Given the description of an element on the screen output the (x, y) to click on. 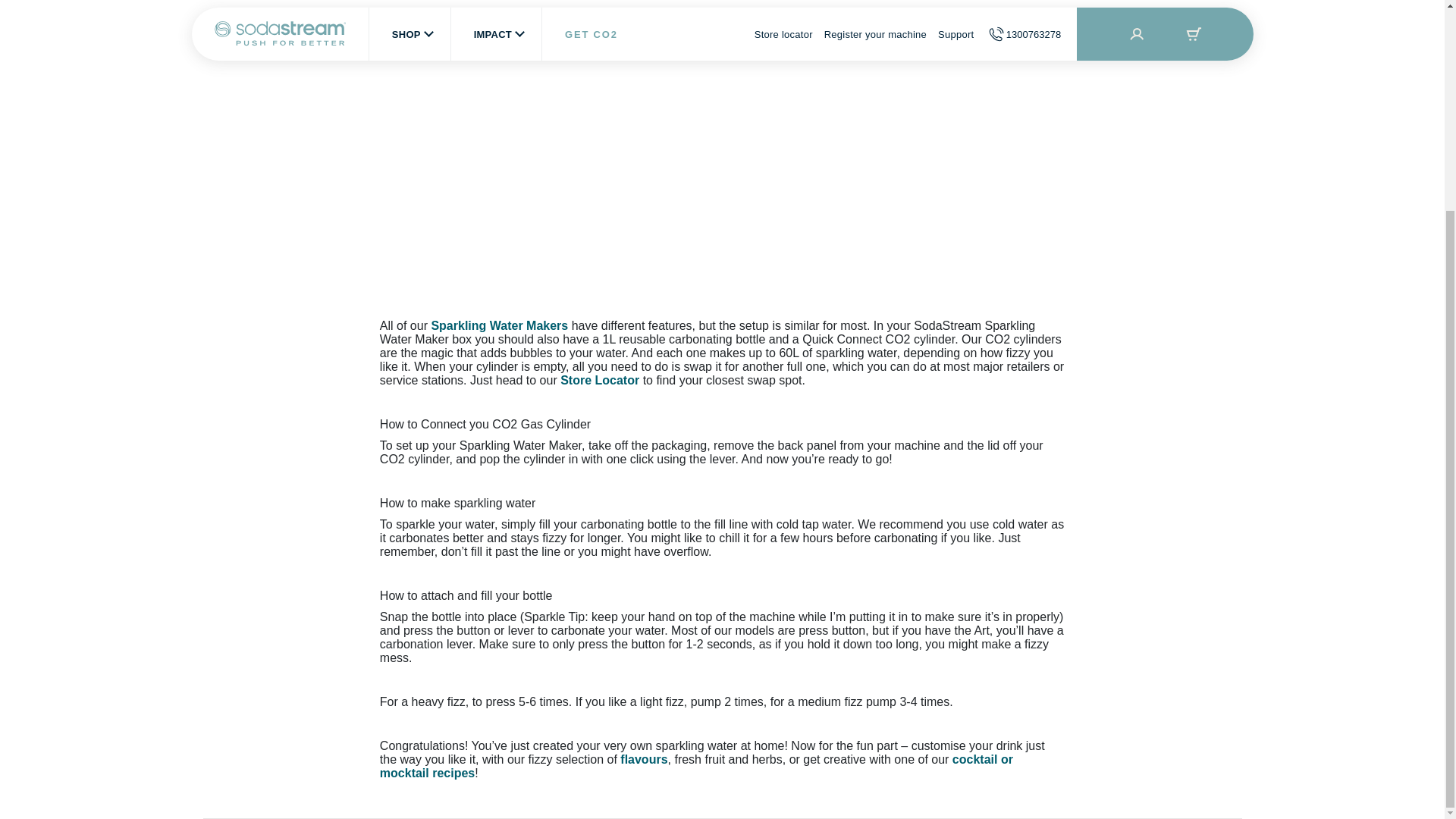
Store Locator (599, 379)
Sparkling Water Makers (498, 325)
Mixology (696, 765)
flavours (643, 758)
cocktail or mocktail recipes (696, 765)
